Given the description of an element on the screen output the (x, y) to click on. 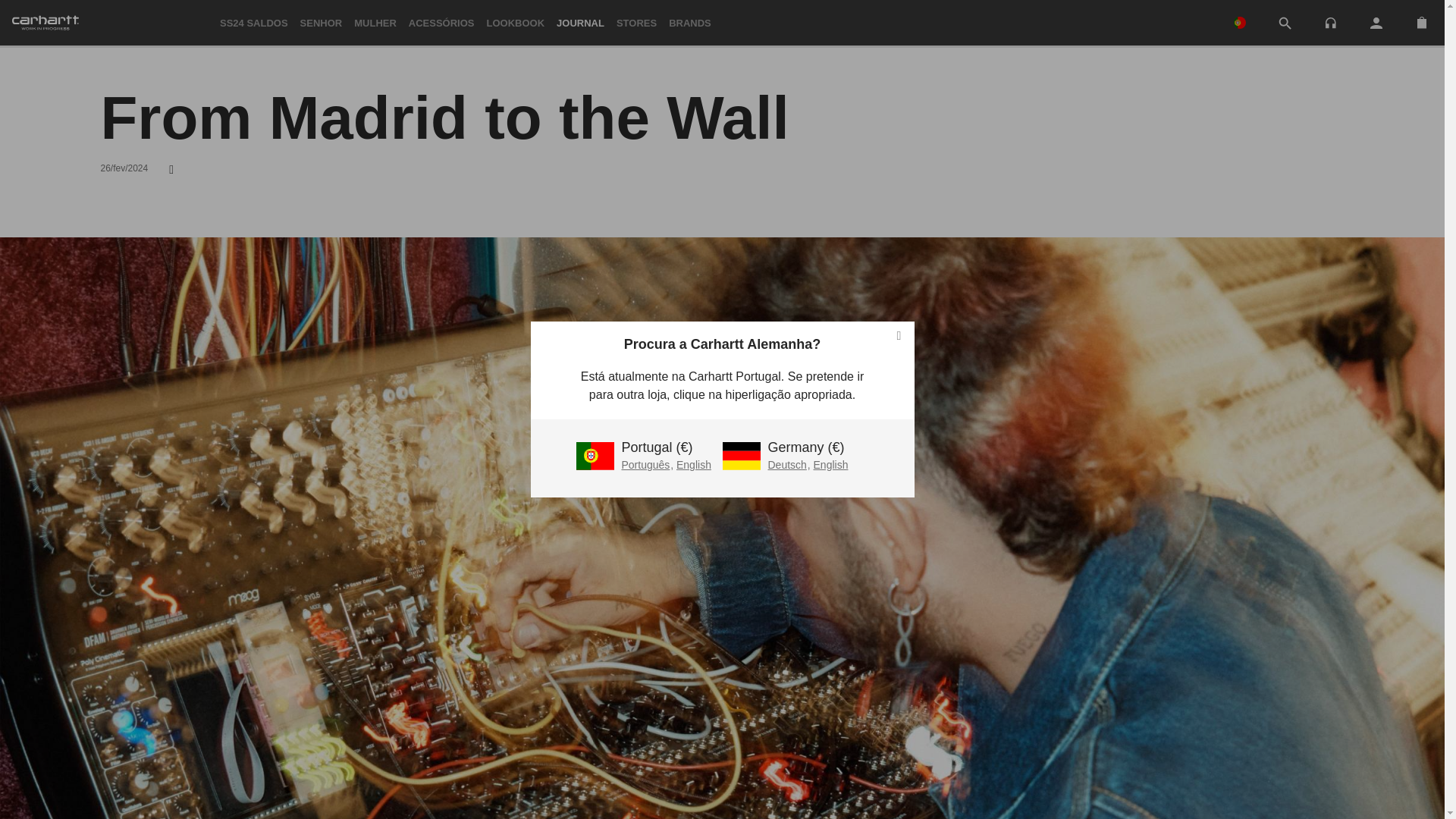
Radio (1330, 21)
Pesquisa aqui (1285, 23)
Pesquisa aqui (1284, 22)
Radio (1330, 22)
